Given the description of an element on the screen output the (x, y) to click on. 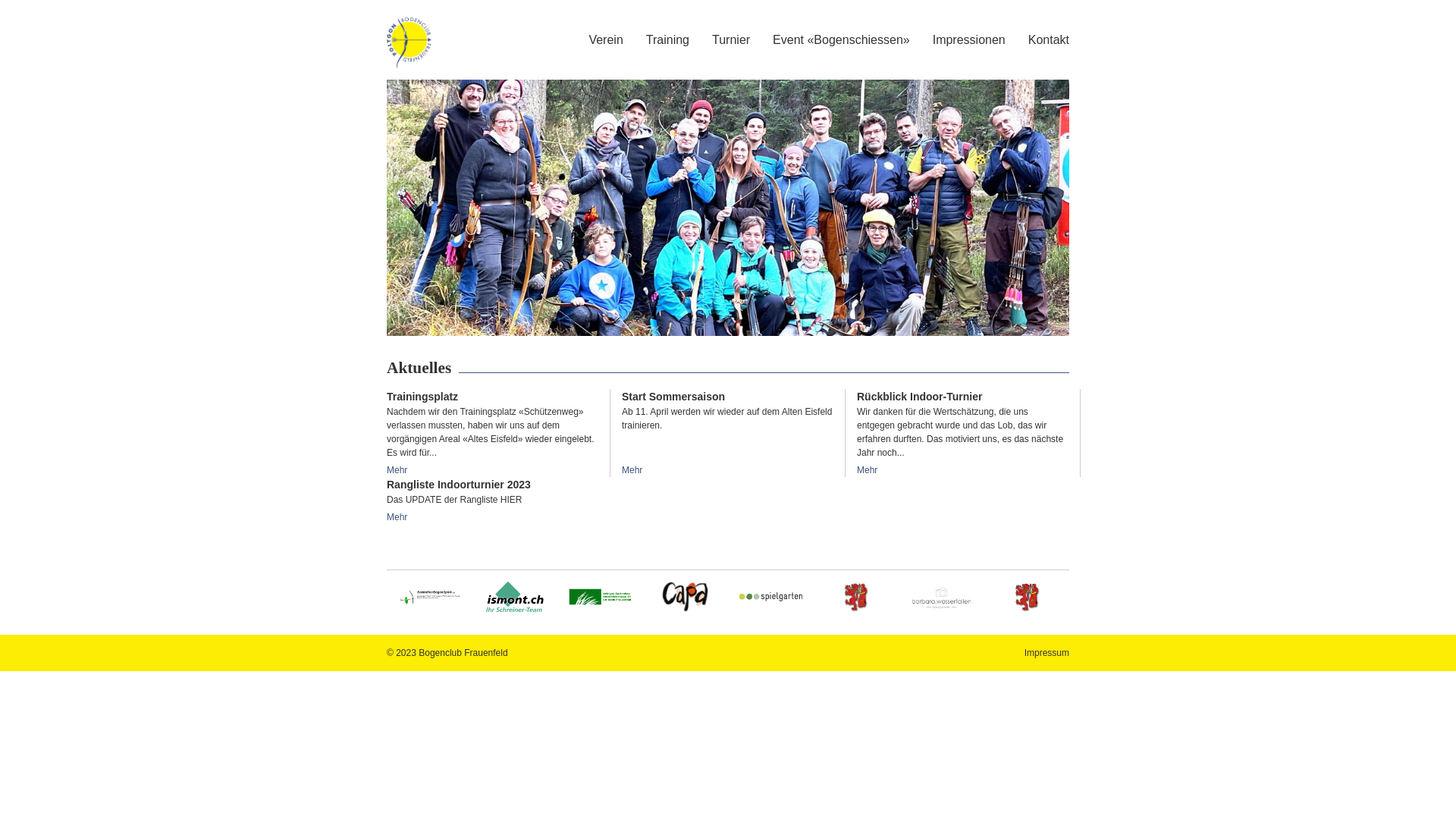
Kontakt Element type: text (1048, 39)
Training Element type: text (667, 39)
Rangliste Indoorturnier 2023 Element type: hover (492, 500)
Mehr Element type: text (866, 469)
Verein Element type: text (605, 39)
Turnier Element type: text (730, 39)
Start Sommersaison Element type: hover (727, 432)
Mehr Element type: text (396, 516)
Mehr Element type: text (631, 469)
Impressionen Element type: text (968, 39)
Mehr Element type: text (396, 469)
Trainingsplatz Element type: hover (492, 432)
Impressum Element type: text (1046, 652)
